Given the description of an element on the screen output the (x, y) to click on. 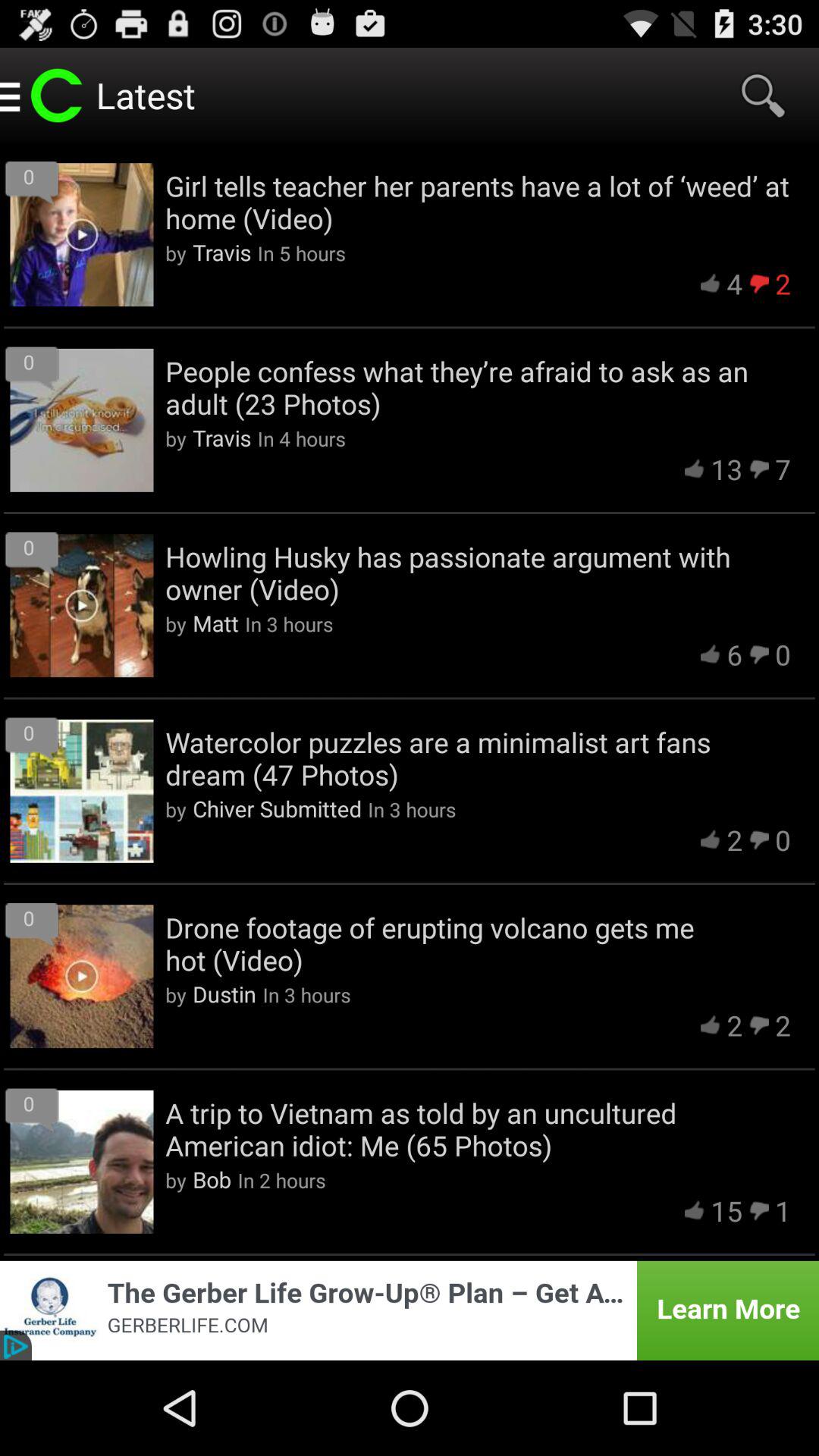
open item to the left of the in 3 hours icon (215, 622)
